Given the description of an element on the screen output the (x, y) to click on. 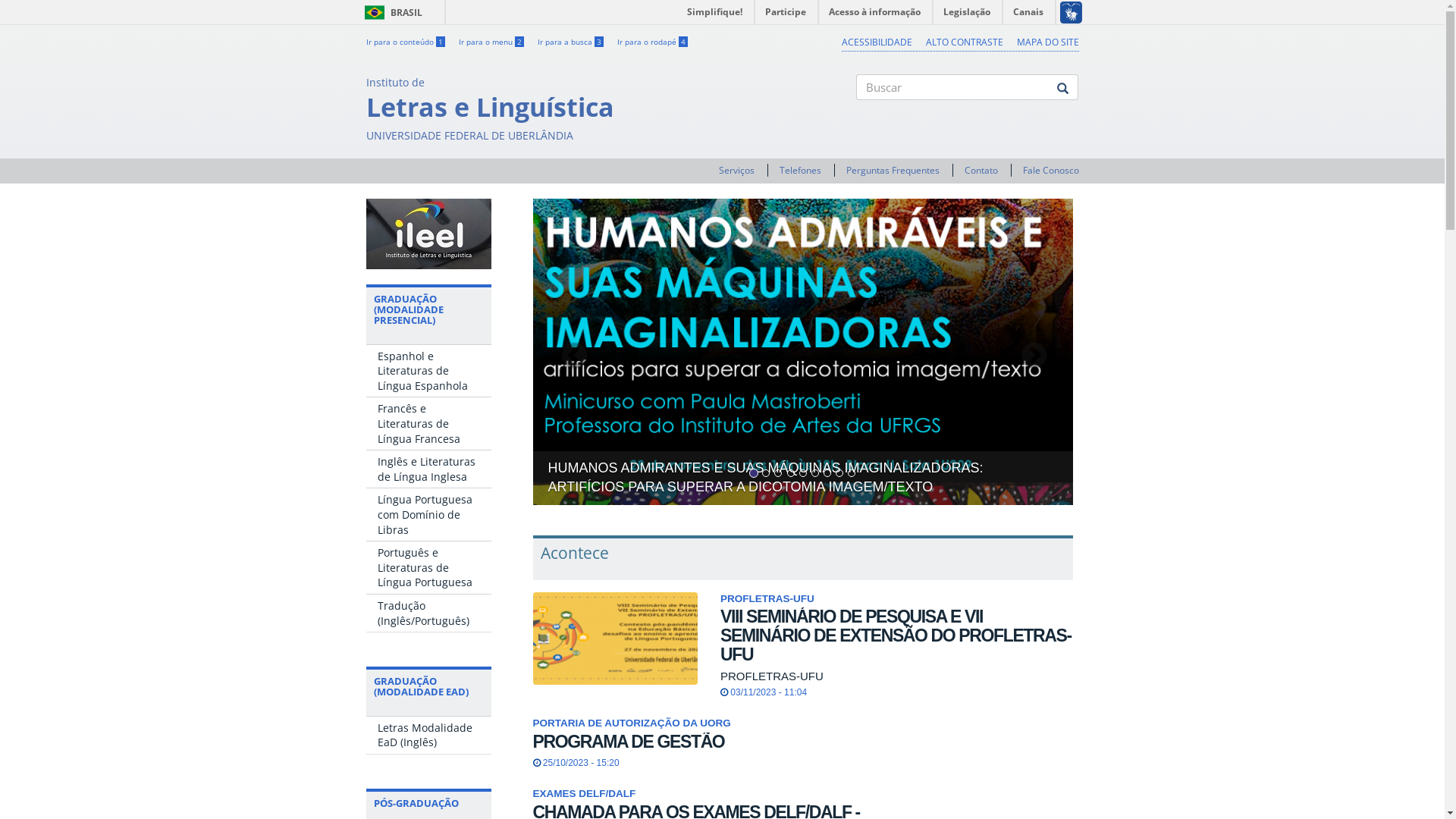
MAPA DO SITE Element type: text (1047, 41)
Ir para a busca 3 Element type: text (569, 41)
ACESSIBILIDADE Element type: text (876, 41)
Contato Element type: text (980, 169)
Fale Conosco Element type: text (1050, 169)
Buscar Element type: text (856, 112)
Ir para o menu 2 Element type: text (490, 41)
Previous Element type: text (572, 351)
Next Element type: text (1032, 351)
Telefones Element type: text (800, 169)
Logotipo da Unidade Element type: hover (427, 233)
ALTO CONTRASTE Element type: text (963, 41)
Perguntas Frequentes Element type: text (892, 169)
BRASIL Element type: text (373, 12)
